Given the description of an element on the screen output the (x, y) to click on. 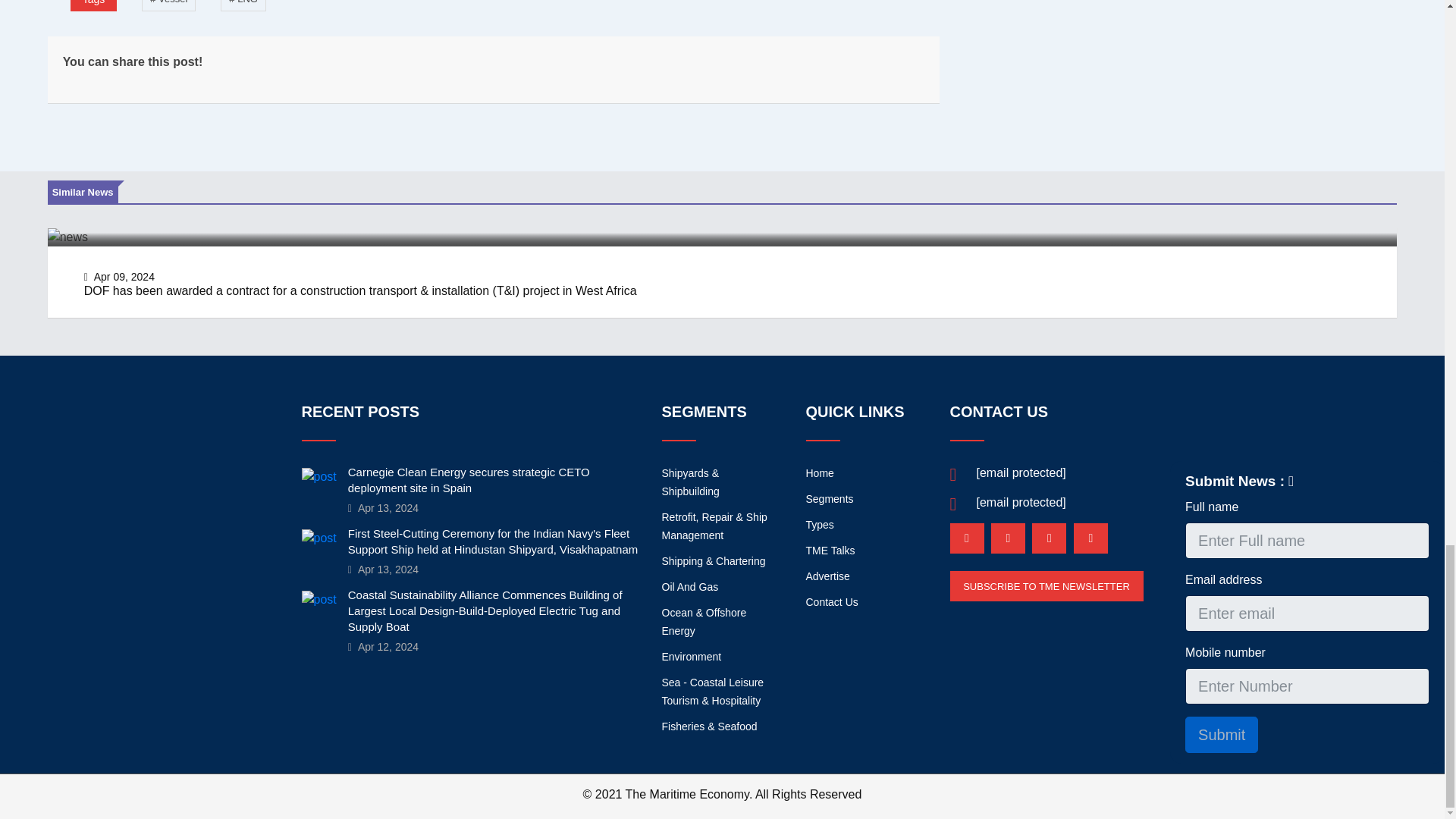
twitter (1048, 538)
youtube (1091, 538)
Linkedin  (966, 538)
facebook (1008, 538)
